Given the description of an element on the screen output the (x, y) to click on. 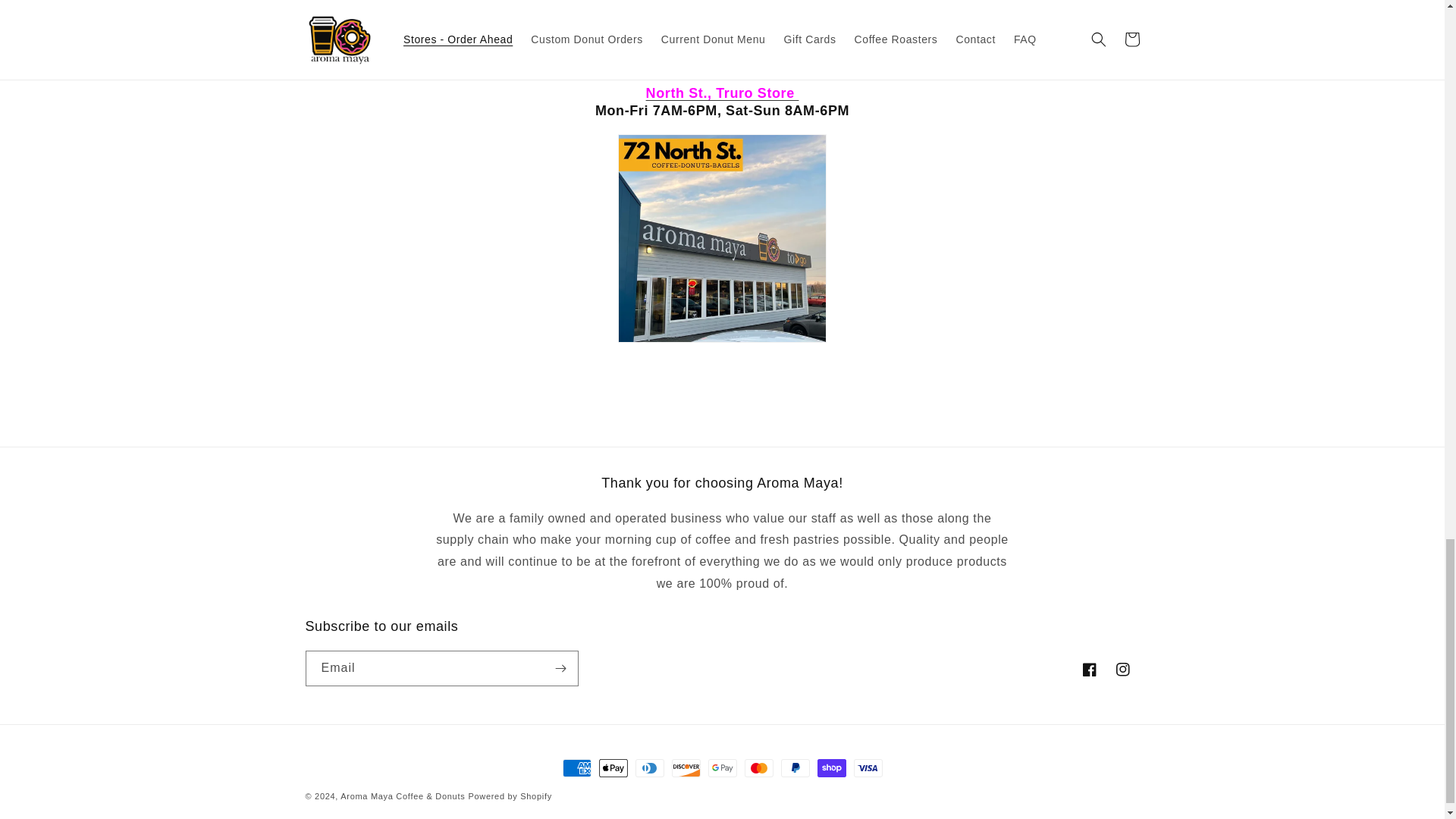
North St. - Order Ahead (722, 92)
Instagram (1121, 669)
North St. - Order Ahead (721, 238)
Young St. - Order Ahead (721, 33)
North St., Truro Store  (722, 92)
Facebook (1088, 669)
